Given the description of an element on the screen output the (x, y) to click on. 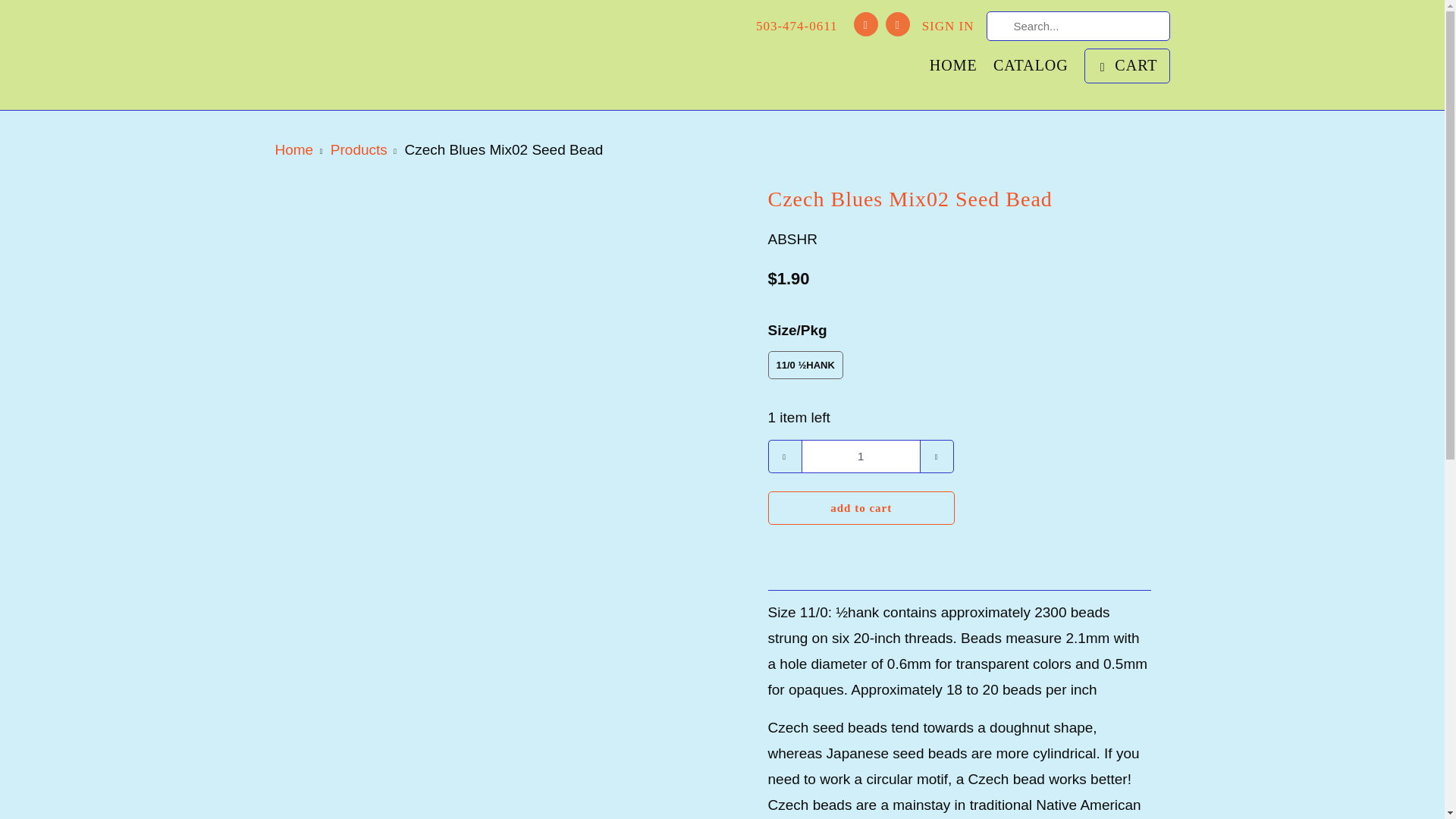
add to cart (861, 507)
HOME (953, 68)
Email Jack of All Beads (897, 24)
Jack of All Beads (357, 54)
Products (358, 148)
CART (1126, 65)
Products (358, 148)
CATALOG (1030, 68)
Jack of All Beads (294, 148)
1 (860, 456)
